Given the description of an element on the screen output the (x, y) to click on. 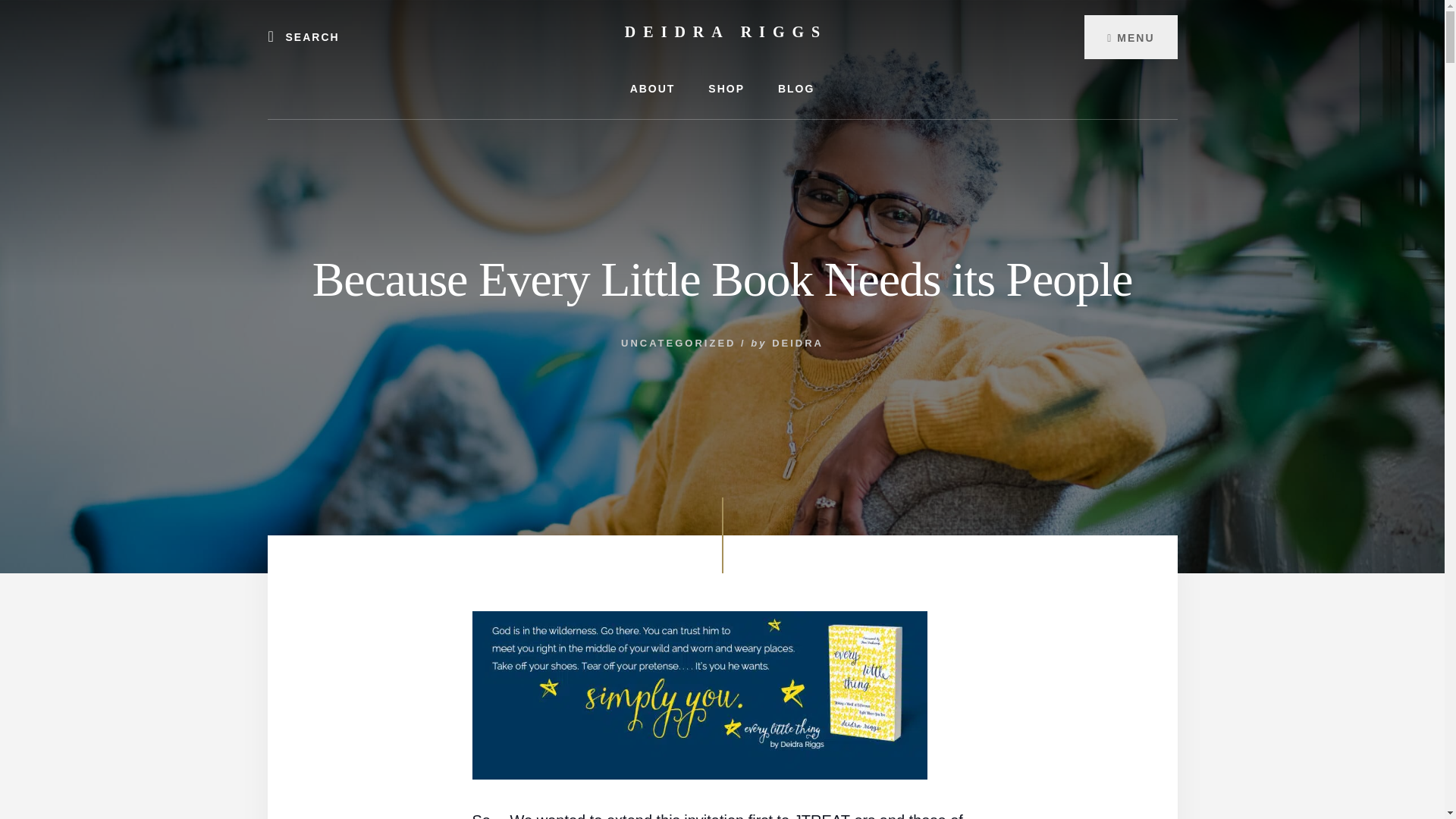
SHOP (726, 88)
BLOG (795, 88)
UNCATEGORIZED (678, 342)
MENU (1130, 36)
DEIDRA (797, 342)
DEIDRA RIGGS (725, 31)
ABOUT (652, 88)
